Given the description of an element on the screen output the (x, y) to click on. 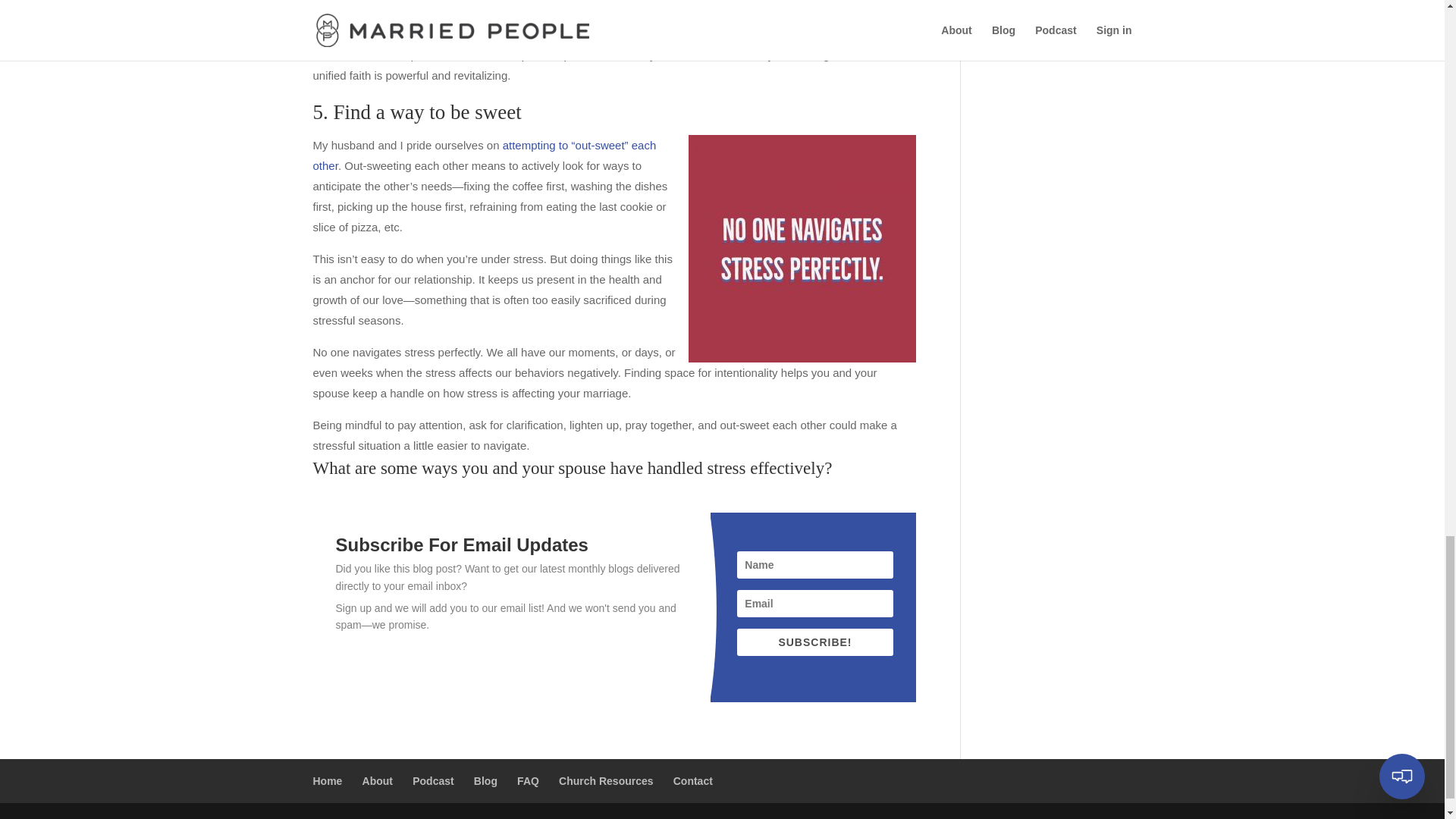
Podcast (432, 780)
FAQ (527, 780)
Church Resources (605, 780)
Home (327, 780)
About (377, 780)
SUBSCRIBE! (814, 642)
Blog (485, 780)
Contact (692, 780)
